Given the description of an element on the screen output the (x, y) to click on. 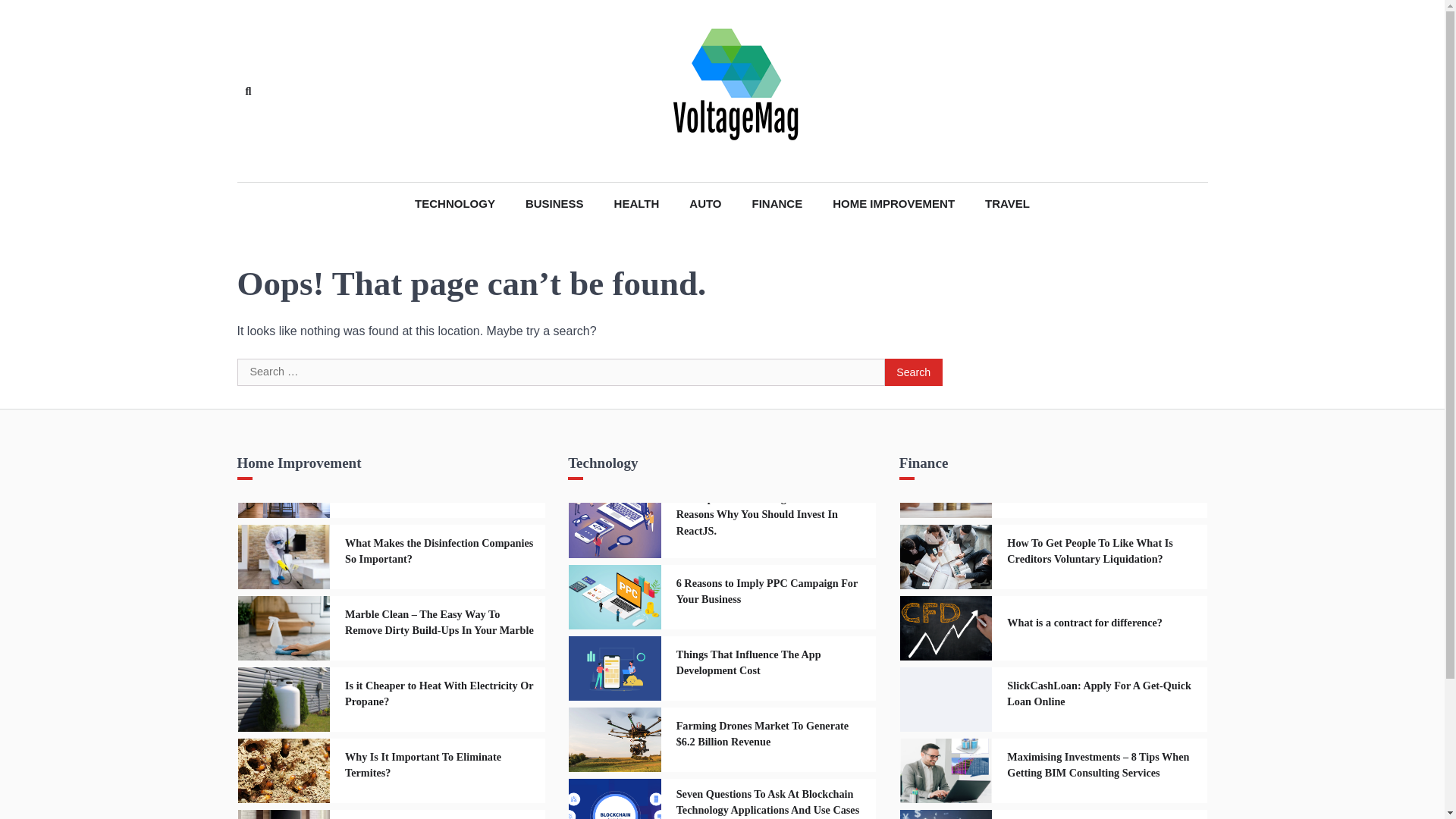
Search (913, 371)
Search (913, 371)
AUTO (705, 204)
Search (443, 126)
TRAVEL (1007, 204)
FINANCE (777, 204)
HOME IMPROVEMENT (892, 204)
HEALTH (636, 204)
BUSINESS (554, 204)
Search (913, 371)
Search (247, 90)
TECHNOLOGY (454, 204)
